Given the description of an element on the screen output the (x, y) to click on. 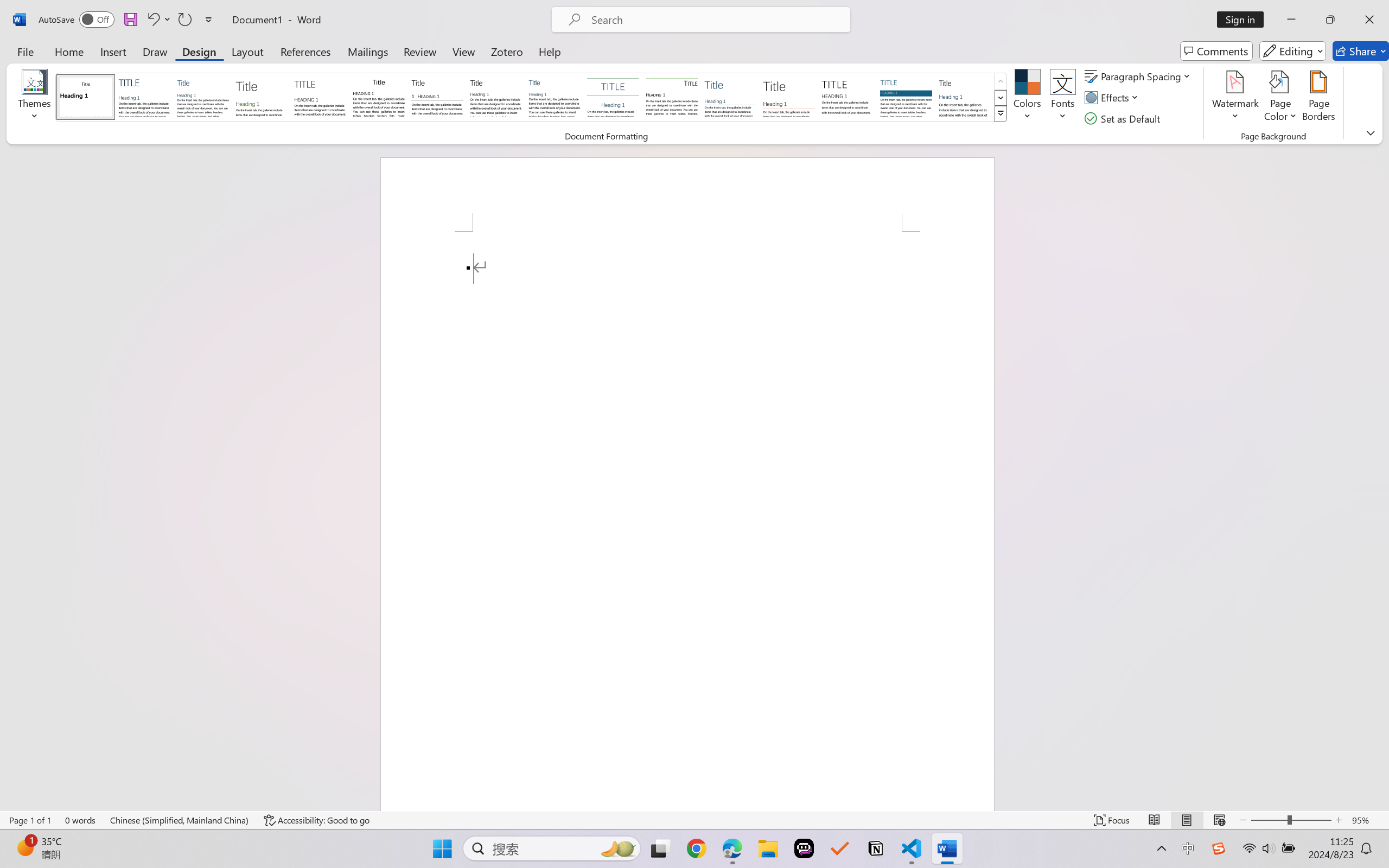
Minimalist (847, 96)
Basic (Simple) (202, 96)
Undo Apply Quick Style (158, 19)
Colors (1027, 97)
Black & White (Capitalized) (320, 96)
Sign in (1244, 19)
Document (85, 96)
Lines (Stylish) (788, 96)
